Given the description of an element on the screen output the (x, y) to click on. 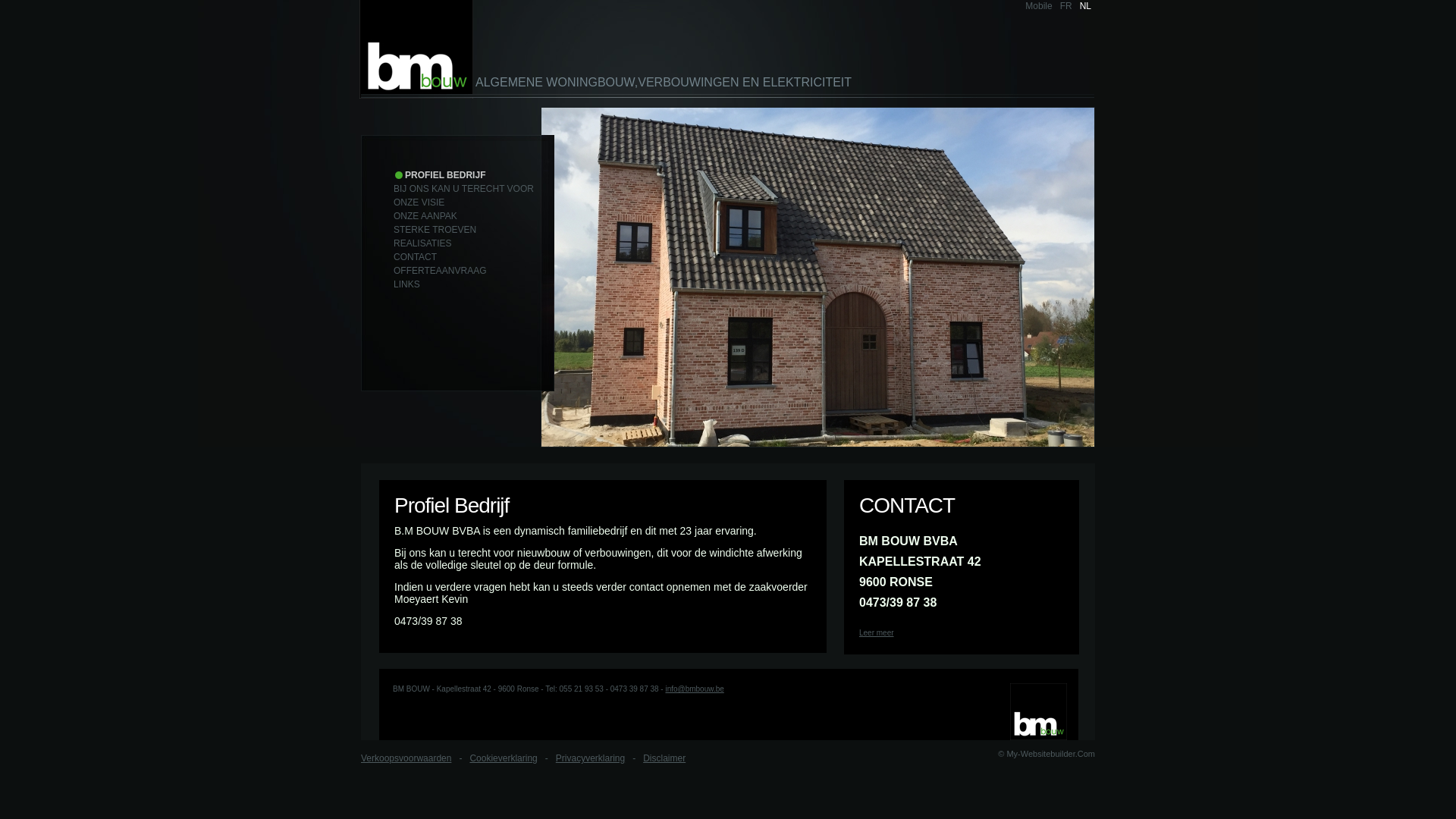
info@bmbouw.be Element type: text (694, 688)
BIJ ONS KAN U TERECHT VOOR Element type: text (463, 188)
Privacyverklaring Element type: text (589, 758)
Cookieverklaring Element type: text (502, 758)
ONZE AANPAK Element type: text (425, 215)
PROFIEL BEDRIJF Element type: text (439, 174)
STERKE TROEVEN Element type: text (434, 229)
Verkoopsvoorwaarden Element type: text (405, 758)
REALISATIES Element type: text (422, 243)
CONTACT Element type: text (414, 256)
LINKS Element type: text (406, 284)
Disclaimer Element type: text (664, 758)
ONZE VISIE Element type: text (418, 202)
Leer meer Element type: text (876, 632)
OFFERTEAANVRAAG Element type: text (439, 270)
